Given the description of an element on the screen output the (x, y) to click on. 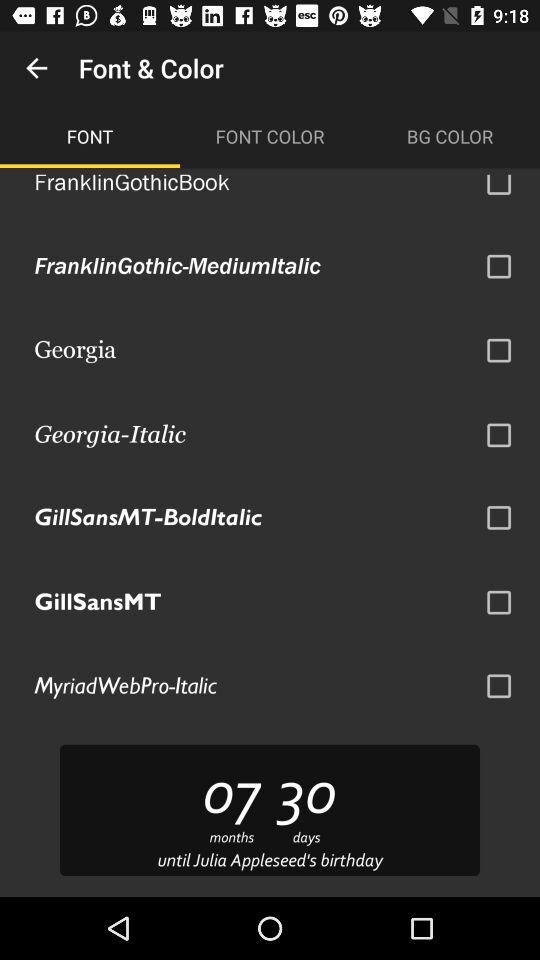
launch the item next to font color icon (450, 136)
